Given the description of an element on the screen output the (x, y) to click on. 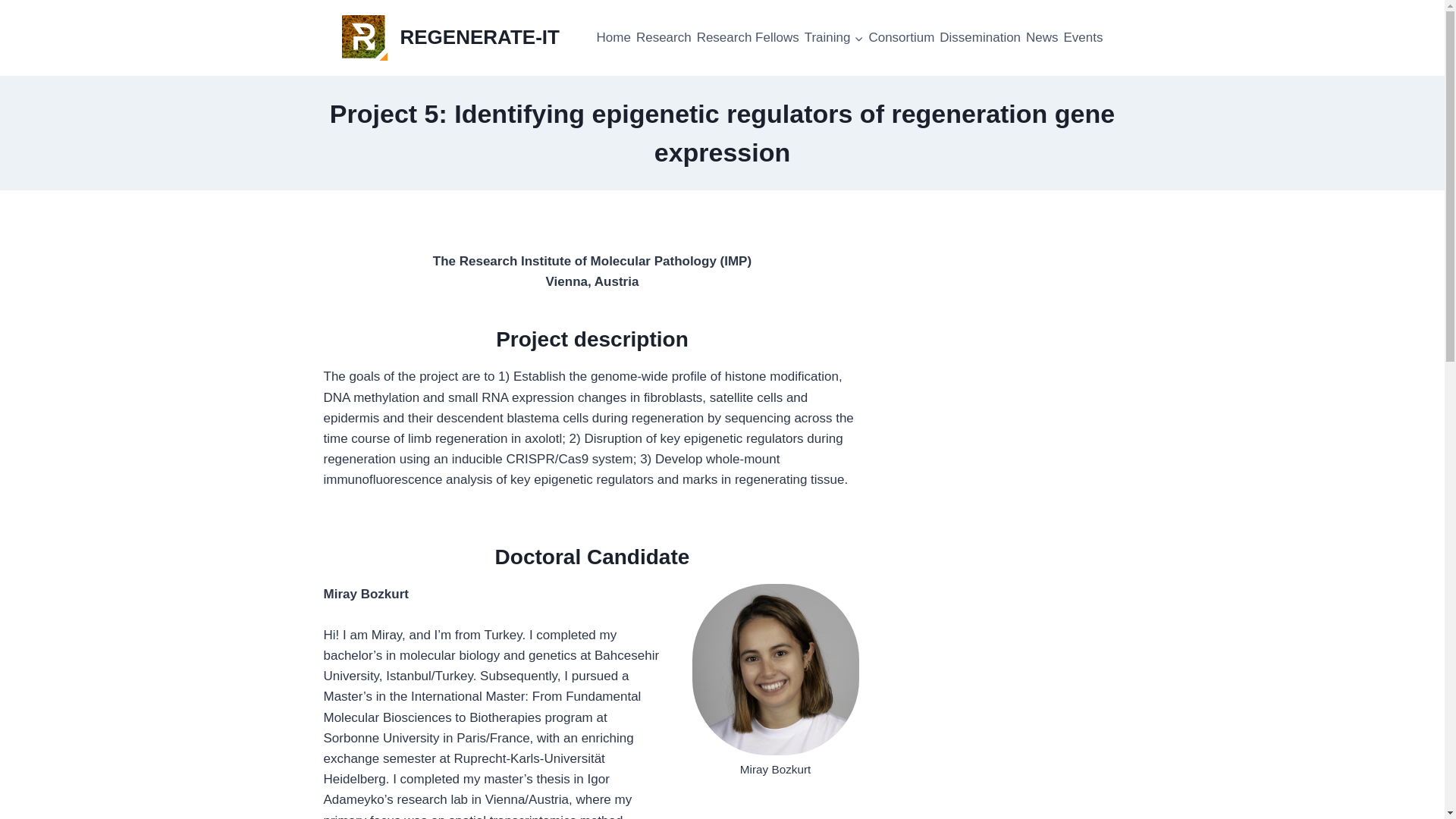
Consortium (900, 37)
Events (1082, 37)
Home (613, 37)
Research (663, 37)
Training (834, 37)
News (1042, 37)
REGENERATE-IT (449, 37)
Dissemination (979, 37)
Research Fellows (748, 37)
